Given the description of an element on the screen output the (x, y) to click on. 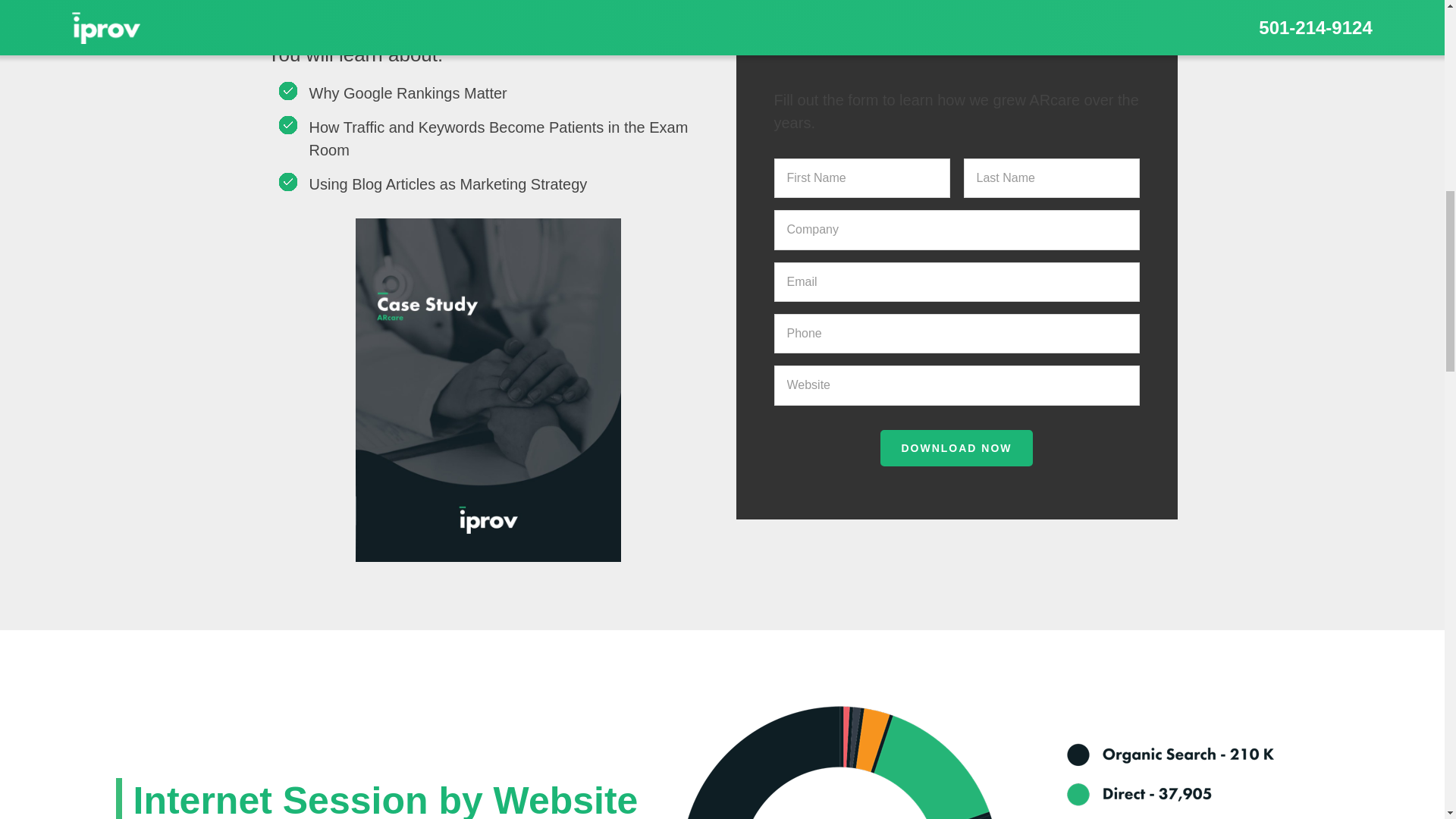
Download Now (956, 447)
Download Now (956, 447)
